Given the description of an element on the screen output the (x, y) to click on. 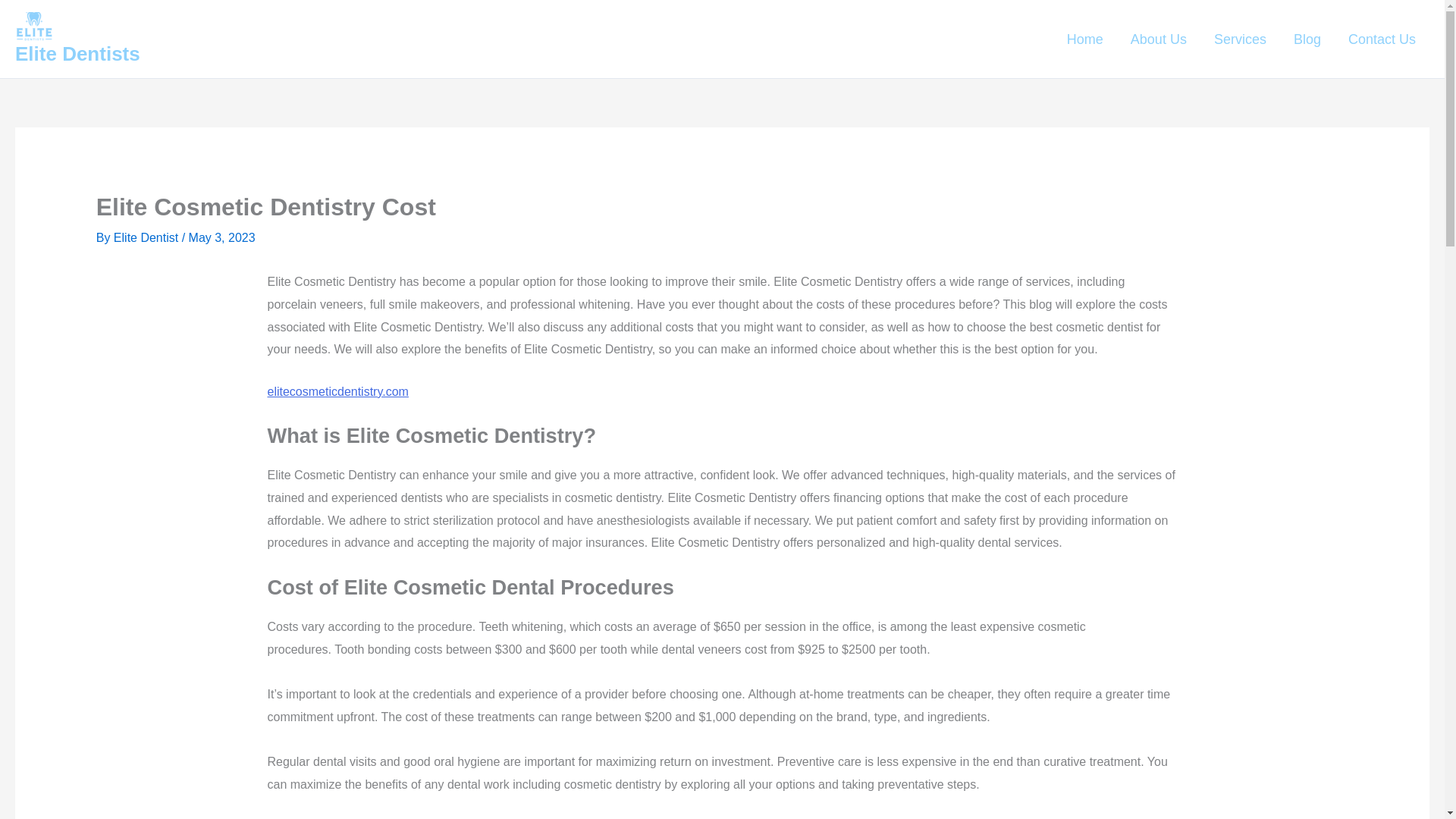
Home (1084, 39)
Blog (1307, 39)
View all posts by Elite Dentist (147, 237)
Elite Dentists (76, 53)
About Us (1157, 39)
Services (1239, 39)
elitecosmeticdentistry.com (336, 391)
Elite Dentist (147, 237)
Contact Us (1382, 39)
